Given the description of an element on the screen output the (x, y) to click on. 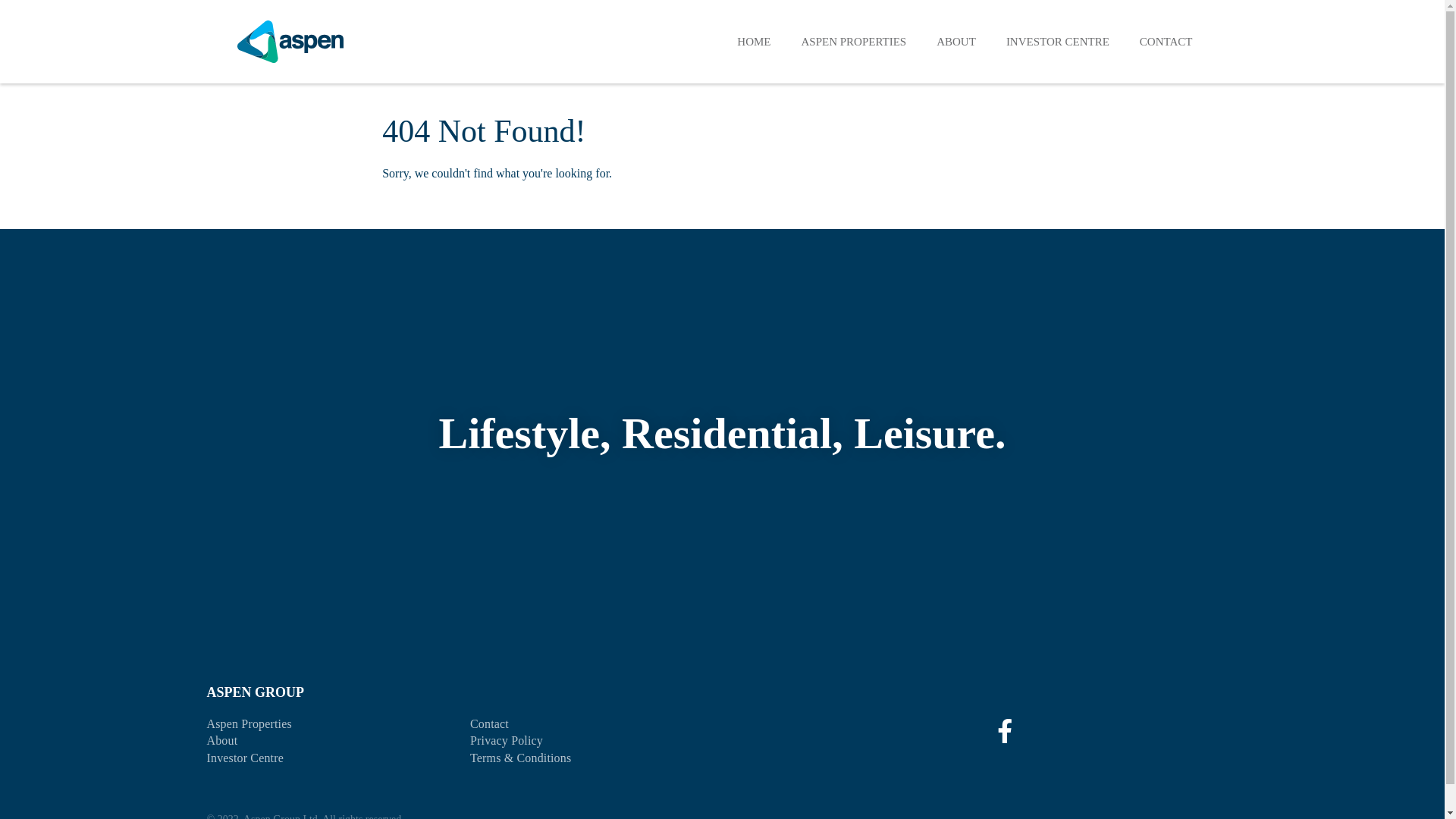
Aspen Properties Element type: text (248, 723)
Terms & Conditions Element type: text (520, 757)
Contact Element type: text (489, 723)
INVESTOR CENTRE Element type: text (1057, 40)
CONTACT Element type: text (1166, 40)
Privacy Policy Element type: text (506, 740)
Investor Centre Element type: text (244, 757)
ABOUT Element type: text (956, 40)
About Element type: text (221, 740)
HOME Element type: text (753, 40)
ASPEN PROPERTIES Element type: text (853, 40)
